Given the description of an element on the screen output the (x, y) to click on. 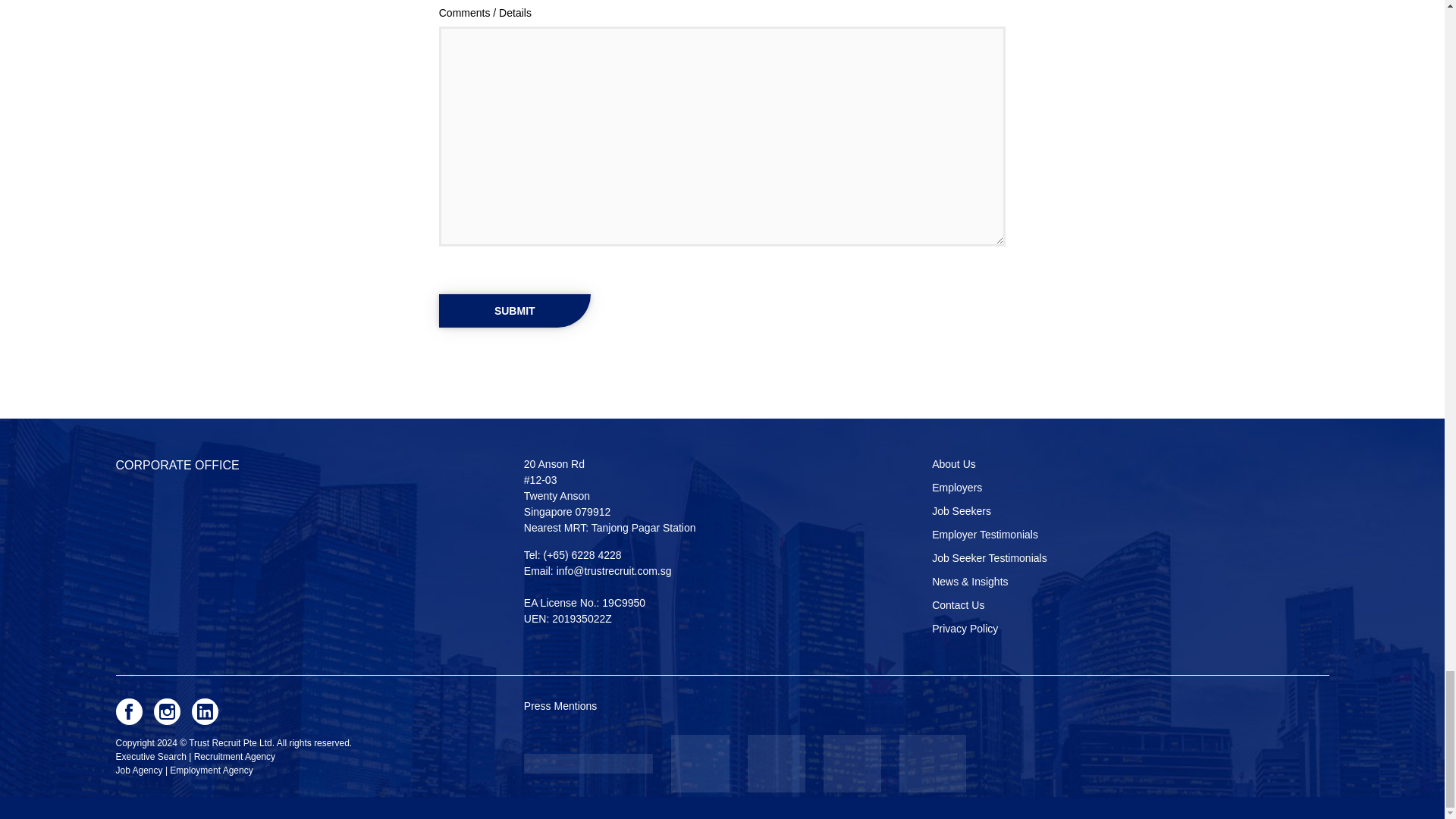
About Us (953, 464)
Submit (515, 310)
Employers (956, 487)
Employer Testimonials (984, 534)
Submit (515, 310)
Job Seekers (961, 511)
